Given the description of an element on the screen output the (x, y) to click on. 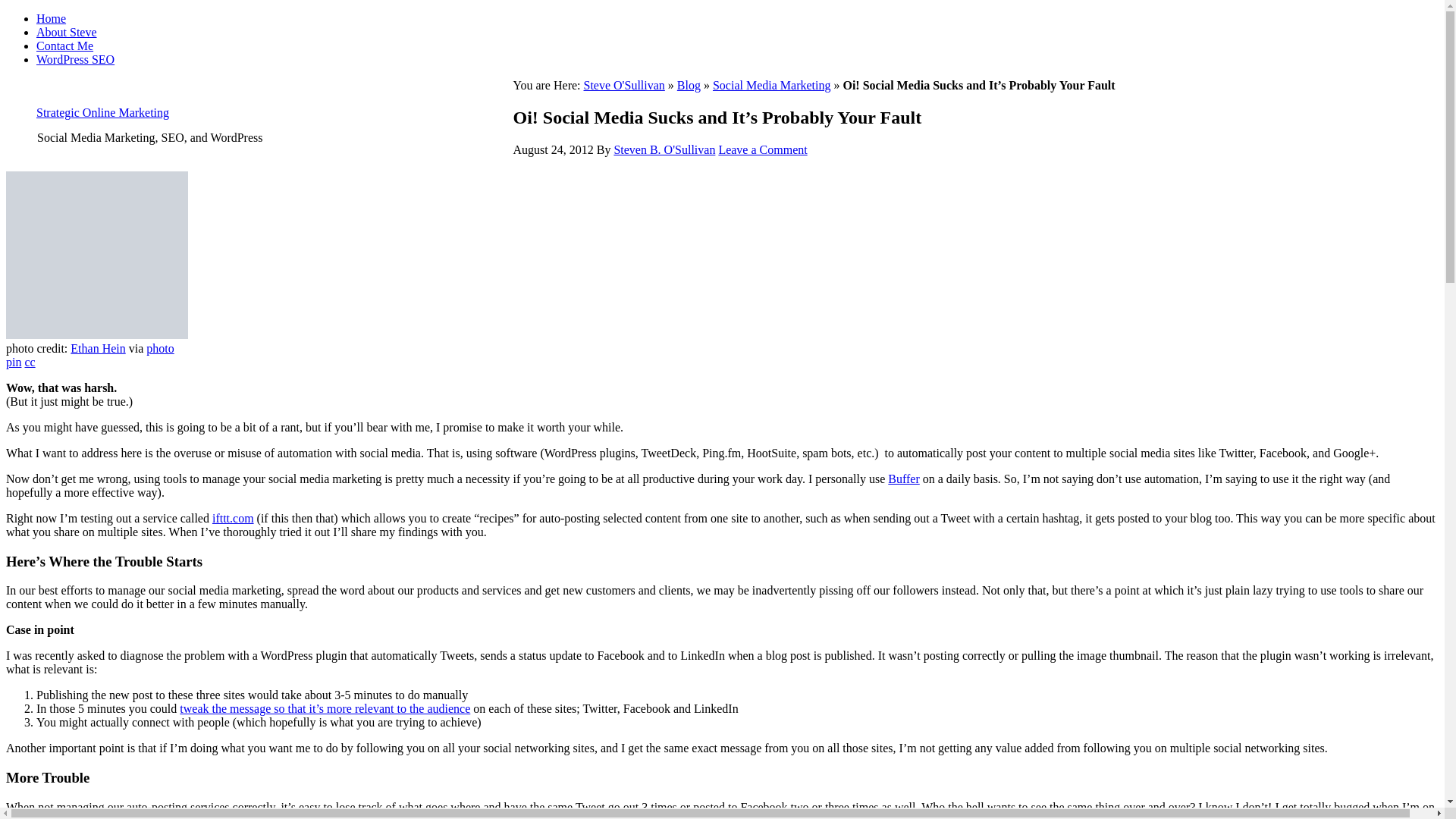
Buffer (903, 478)
Contact Me (64, 45)
Leave a Comment (761, 149)
ifttt.com (232, 517)
Steve O'Sullivan (624, 84)
Blog (688, 84)
cc (29, 361)
Home (50, 18)
photo pin (89, 355)
Ethan Hein (97, 348)
Social Media Marketing (772, 84)
Social Media Confusion, Google Plus and Making Choices (324, 707)
About Steve (66, 31)
Steven B. O'Sullivan (663, 149)
Social Media Web (96, 255)
